Given the description of an element on the screen output the (x, y) to click on. 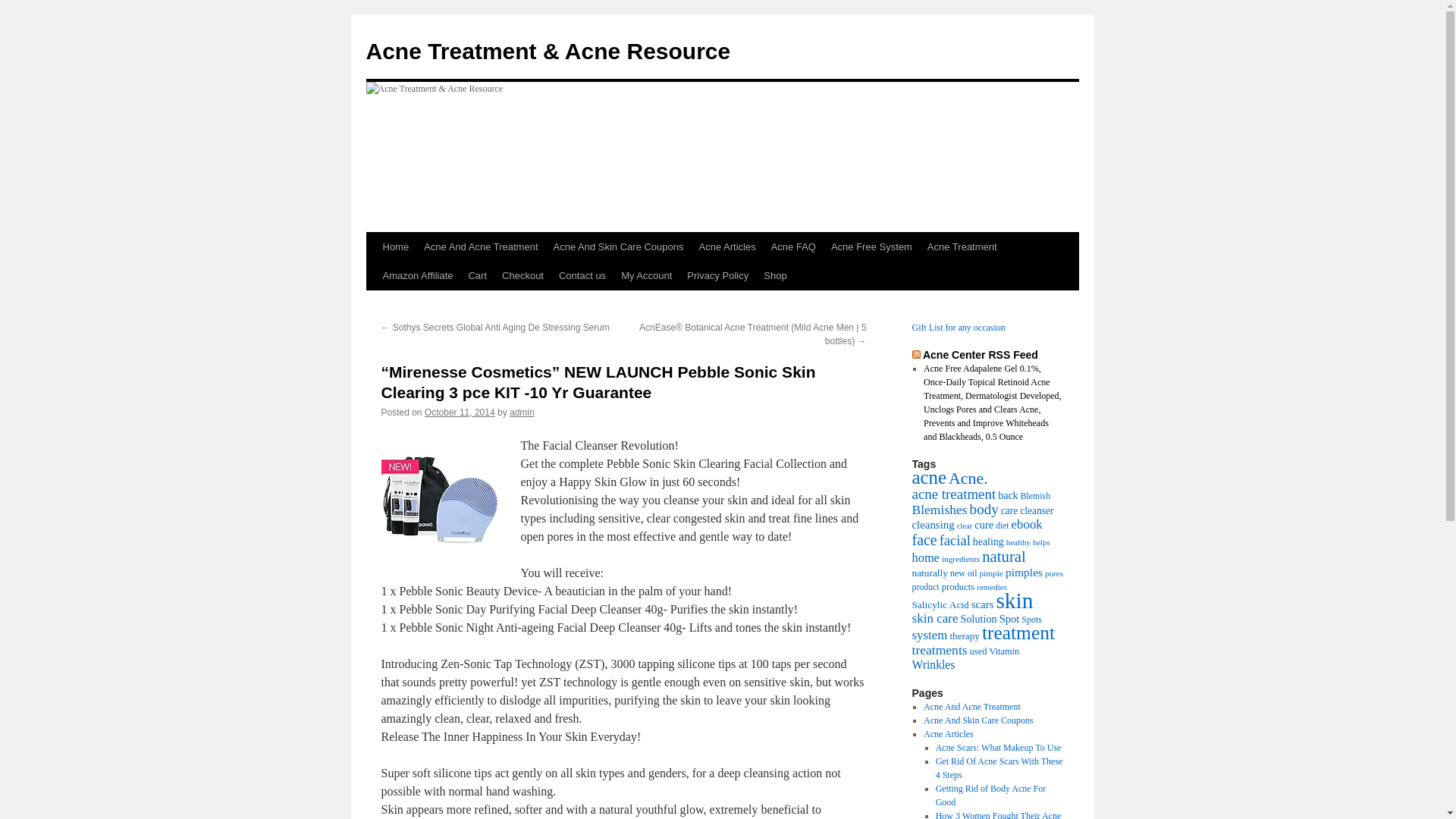
scars Element type: text (982, 604)
Acne And Acne Treatment Element type: text (480, 246)
treatments Element type: text (938, 649)
Getting Rid of Body Acne For Good Element type: text (990, 795)
Home Element type: text (395, 246)
pimples Element type: text (1023, 571)
product Element type: text (924, 586)
Acne. Element type: text (968, 477)
Acne Articles Element type: text (727, 246)
ebook Element type: text (1026, 524)
Spot Element type: text (1009, 618)
Gift List for any occasion Element type: text (957, 327)
Shop Element type: text (774, 275)
Acne Free System Element type: text (871, 246)
treatment Element type: text (1018, 632)
Cart Element type: text (477, 275)
Get Rid Of Acne Scars With These 4 Steps Element type: text (999, 768)
Acne Scars: What Makeup To Use Element type: text (998, 747)
diet Element type: text (1001, 525)
new Element type: text (957, 572)
Acne And Skin Care Coupons Element type: text (618, 246)
October 11, 2014 Element type: text (459, 412)
healthy Element type: text (1018, 541)
Privacy Policy Element type: text (717, 275)
cleanser Element type: text (1036, 510)
Blemishes Element type: text (938, 509)
remedies Element type: text (991, 586)
Acne Articles Element type: text (948, 733)
used Element type: text (978, 651)
body Element type: text (983, 509)
Contact us Element type: text (582, 275)
pores Element type: text (1053, 572)
care Element type: text (1009, 510)
acne Element type: text (928, 477)
My Account Element type: text (646, 275)
home Element type: text (924, 557)
acne treatment Element type: text (953, 494)
products Element type: text (958, 586)
facial Element type: text (954, 540)
cure Element type: text (983, 524)
cleansing Element type: text (932, 524)
Solution Element type: text (978, 618)
Blemish Element type: text (1035, 495)
helps Element type: text (1041, 542)
back Element type: text (1007, 495)
system Element type: text (929, 634)
ingredients Element type: text (960, 558)
Vitamin Element type: text (1004, 651)
natural Element type: text (1004, 556)
clear Element type: text (964, 525)
Spots Element type: text (1031, 619)
Acne And Skin Care Coupons Element type: text (978, 720)
admin Element type: text (521, 412)
skin care Element type: text (934, 618)
Wrinkles Element type: text (932, 664)
Salicylic Acid Element type: text (939, 604)
pimple Element type: text (990, 572)
skin Element type: text (1013, 600)
therapy Element type: text (964, 635)
Acne Treatment Element type: text (961, 246)
Acne And Acne Treatment Element type: text (971, 706)
Acne Center RSS Feed Element type: text (980, 354)
naturally Element type: text (929, 572)
face Element type: text (923, 539)
Acne Treatment & Acne Resource Element type: text (547, 50)
Acne FAQ Element type: text (793, 246)
Amazon Affiliate Element type: text (417, 275)
Skip to content Element type: text (372, 275)
Checkout Element type: text (522, 275)
healing Element type: text (988, 541)
oil Element type: text (972, 572)
